Given the description of an element on the screen output the (x, y) to click on. 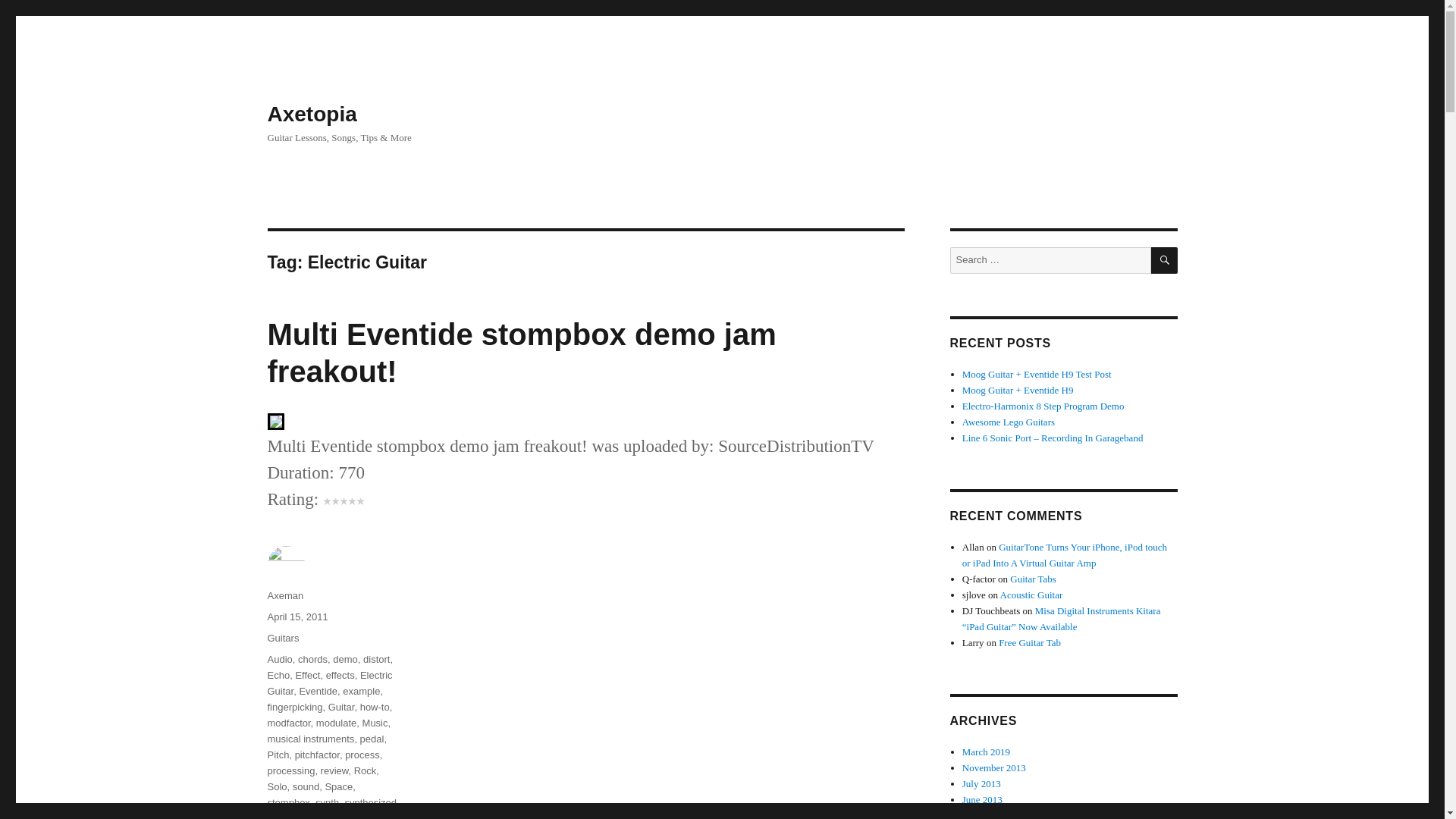
Solo (276, 786)
April 15, 2011 (296, 616)
Rock (365, 770)
Synthesizer (323, 816)
musical instruments (309, 738)
fingerpicking (293, 706)
stompbox (287, 802)
Space (338, 786)
Effect (307, 674)
distort (376, 659)
Audio (279, 659)
example (361, 690)
Techno (371, 816)
Pitch (277, 754)
sound (305, 786)
